Given the description of an element on the screen output the (x, y) to click on. 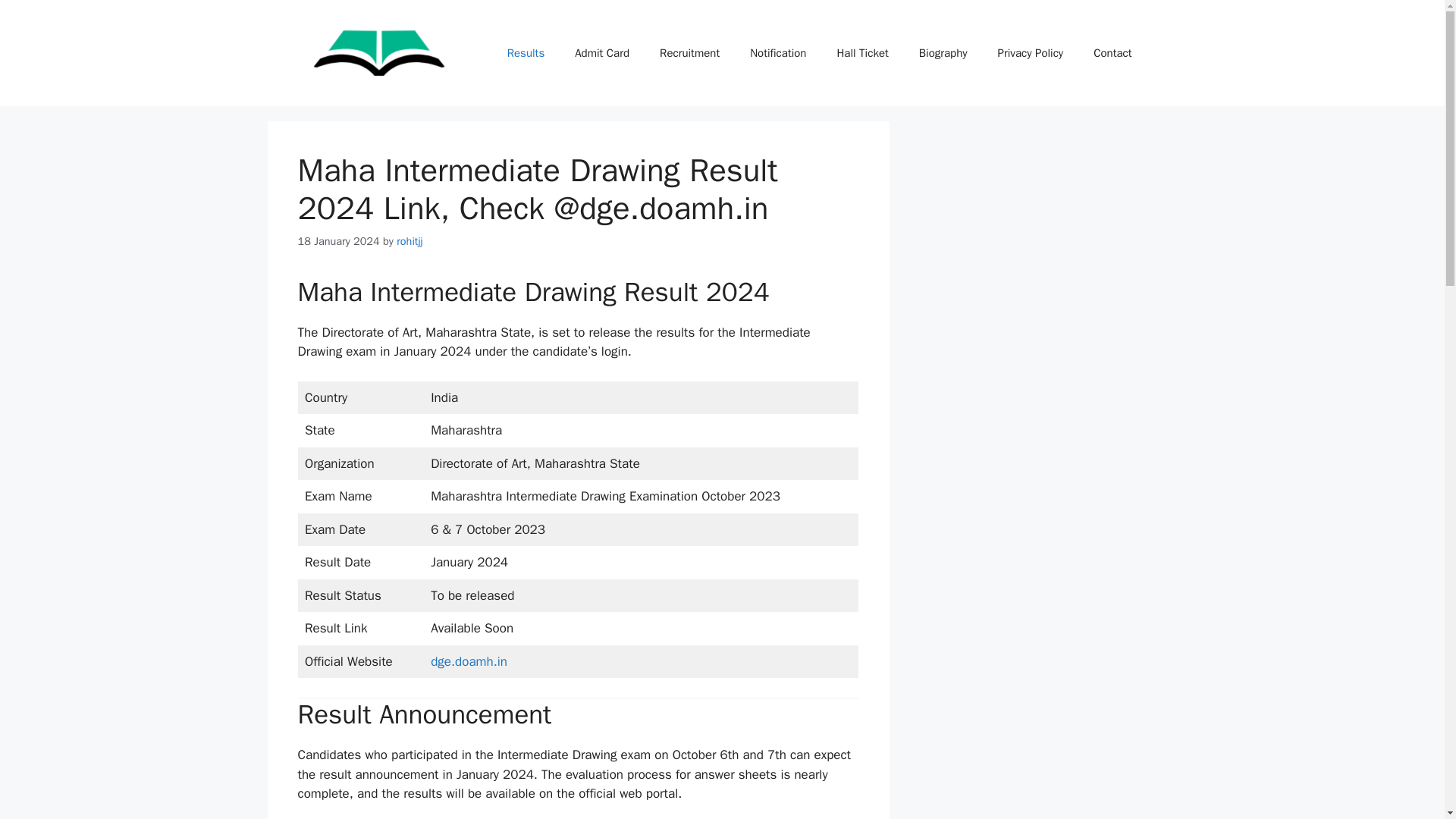
Recruitment (690, 53)
Biography (943, 53)
View all posts by rohitjj (409, 241)
Contact (1112, 53)
Admit Card (602, 53)
Privacy Policy (1030, 53)
rohitjj (409, 241)
dge.doamh.i (465, 661)
Hall Ticket (861, 53)
Results (525, 53)
Notification (778, 53)
